Given the description of an element on the screen output the (x, y) to click on. 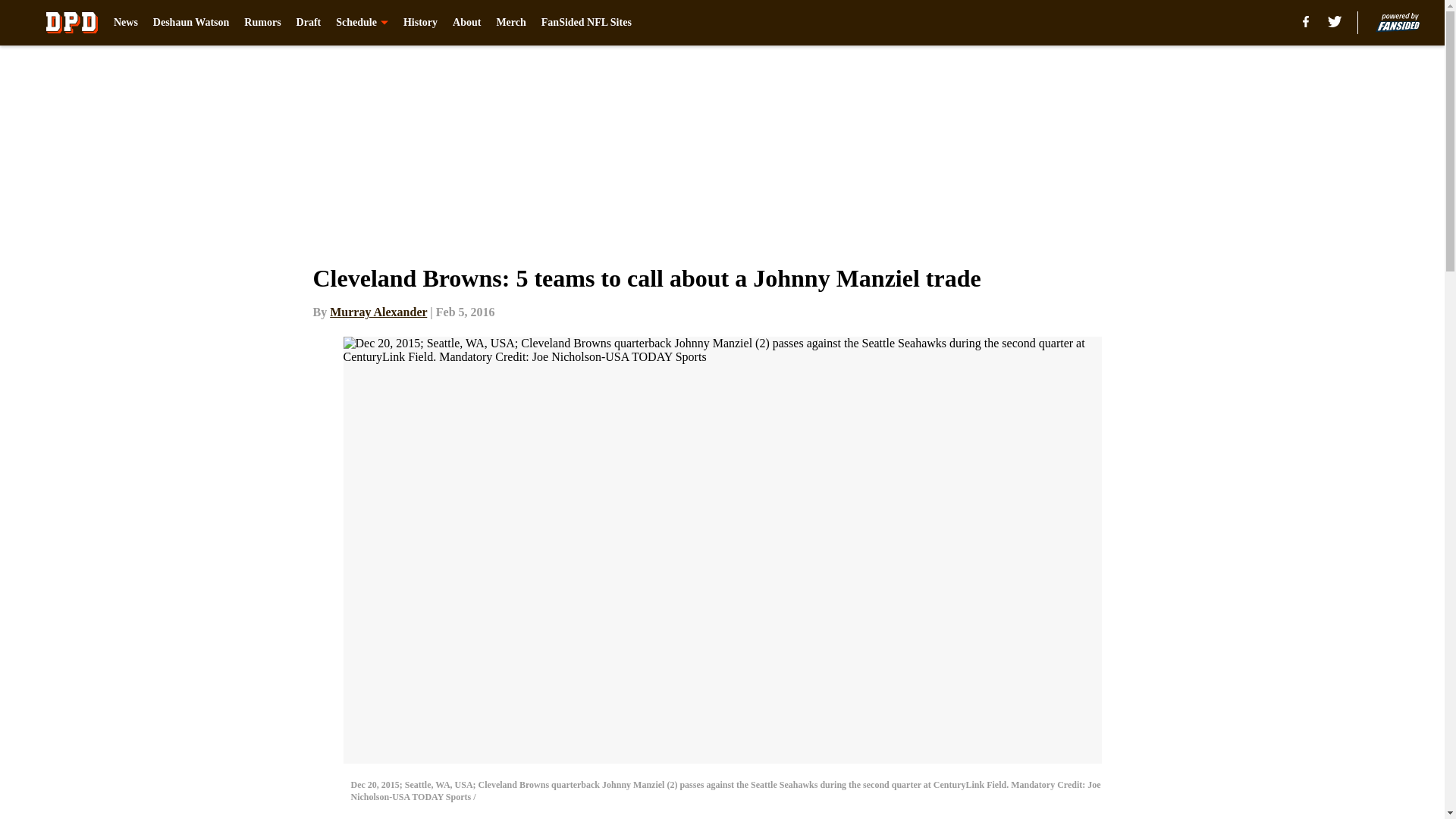
About (466, 22)
News (125, 22)
History (420, 22)
Merch (510, 22)
Murray Alexander (378, 311)
FanSided NFL Sites (586, 22)
Draft (309, 22)
Rumors (262, 22)
Deshaun Watson (191, 22)
